Given the description of an element on the screen output the (x, y) to click on. 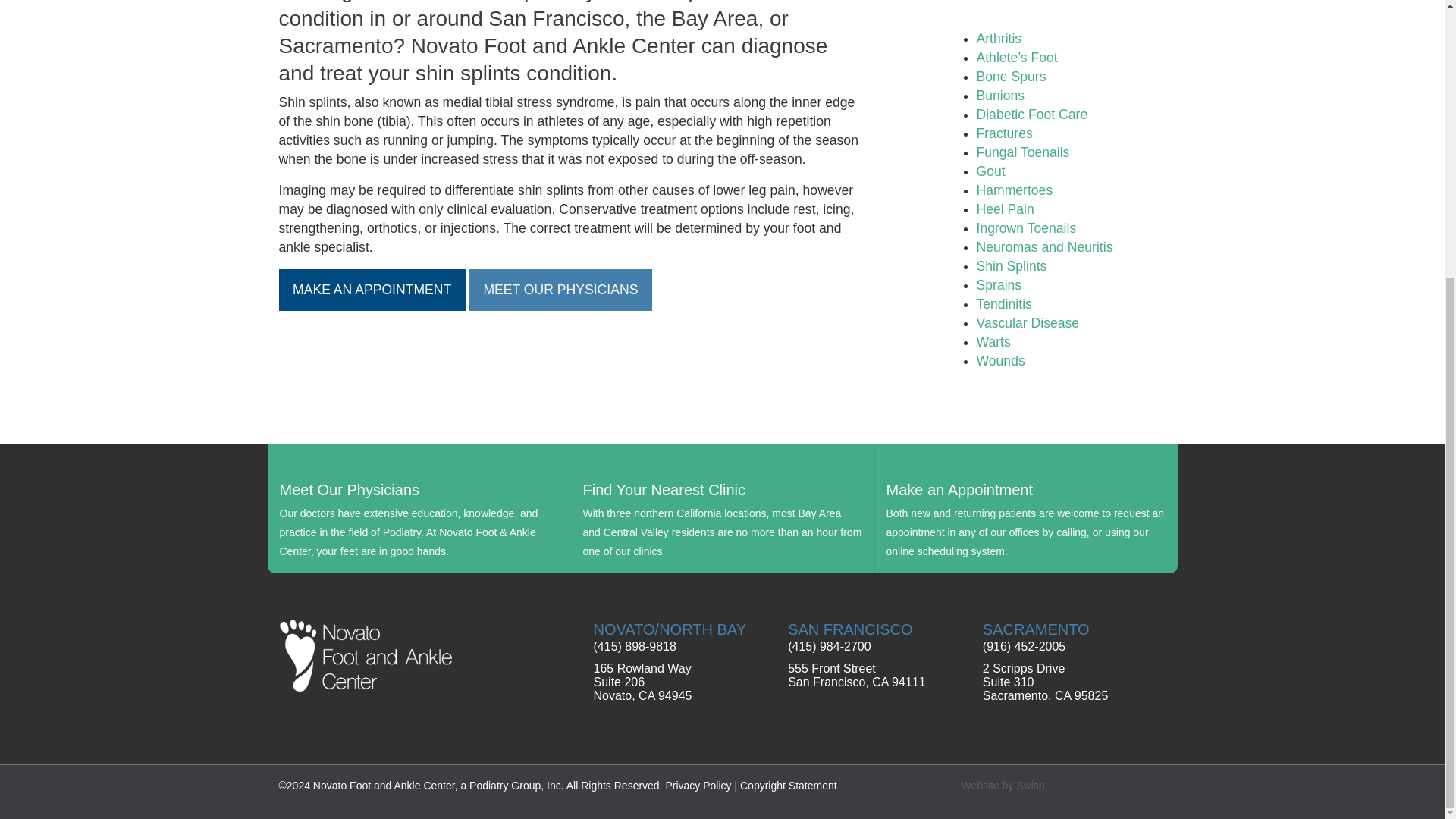
MEET OUR PHYSICIANS (560, 290)
Bone Spurs (1011, 76)
MAKE AN APPOINTMENT (372, 290)
Arthritis (999, 38)
